Given the description of an element on the screen output the (x, y) to click on. 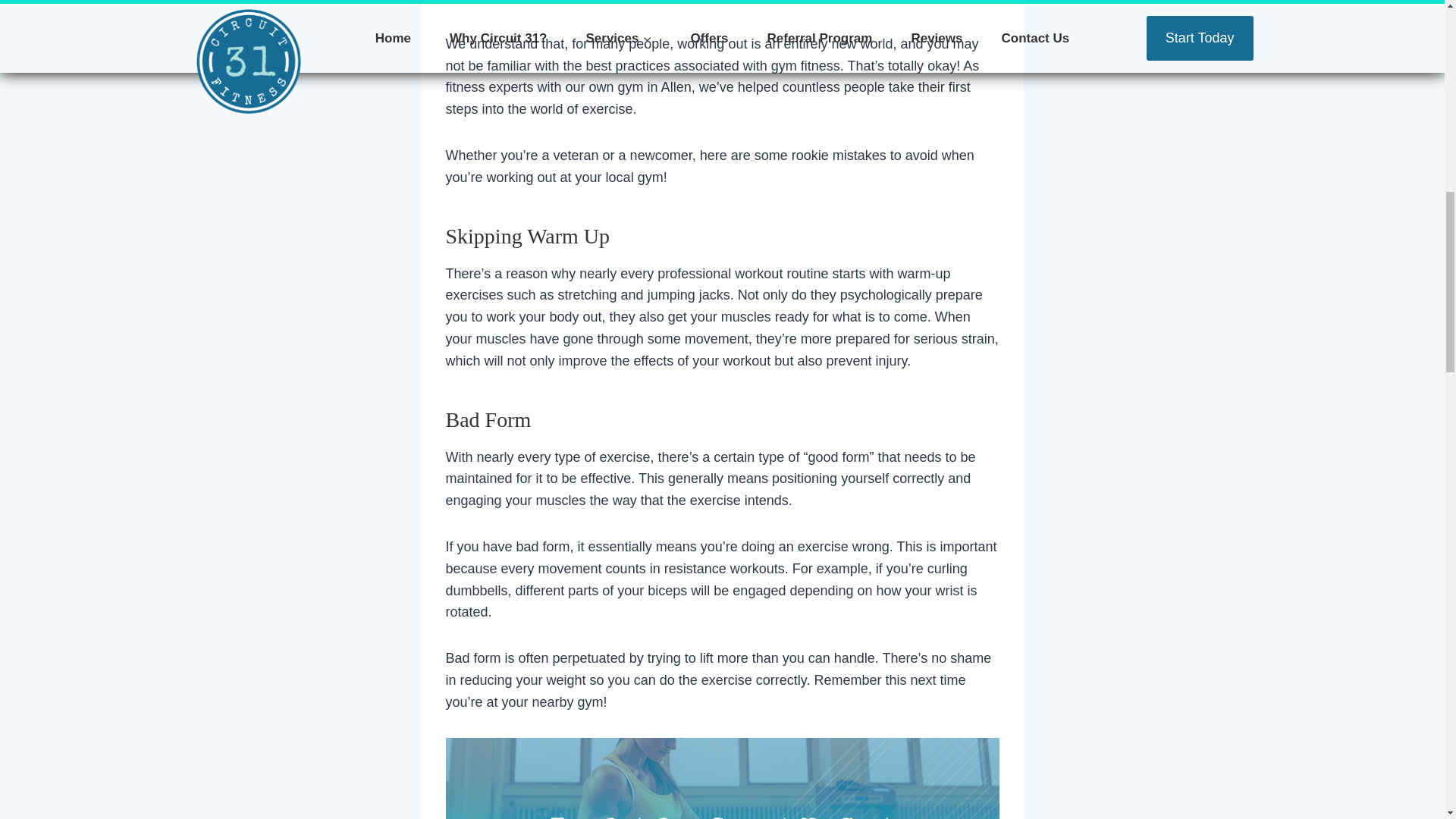
Sign Up For A Free Trial (721, 778)
